Given the description of an element on the screen output the (x, y) to click on. 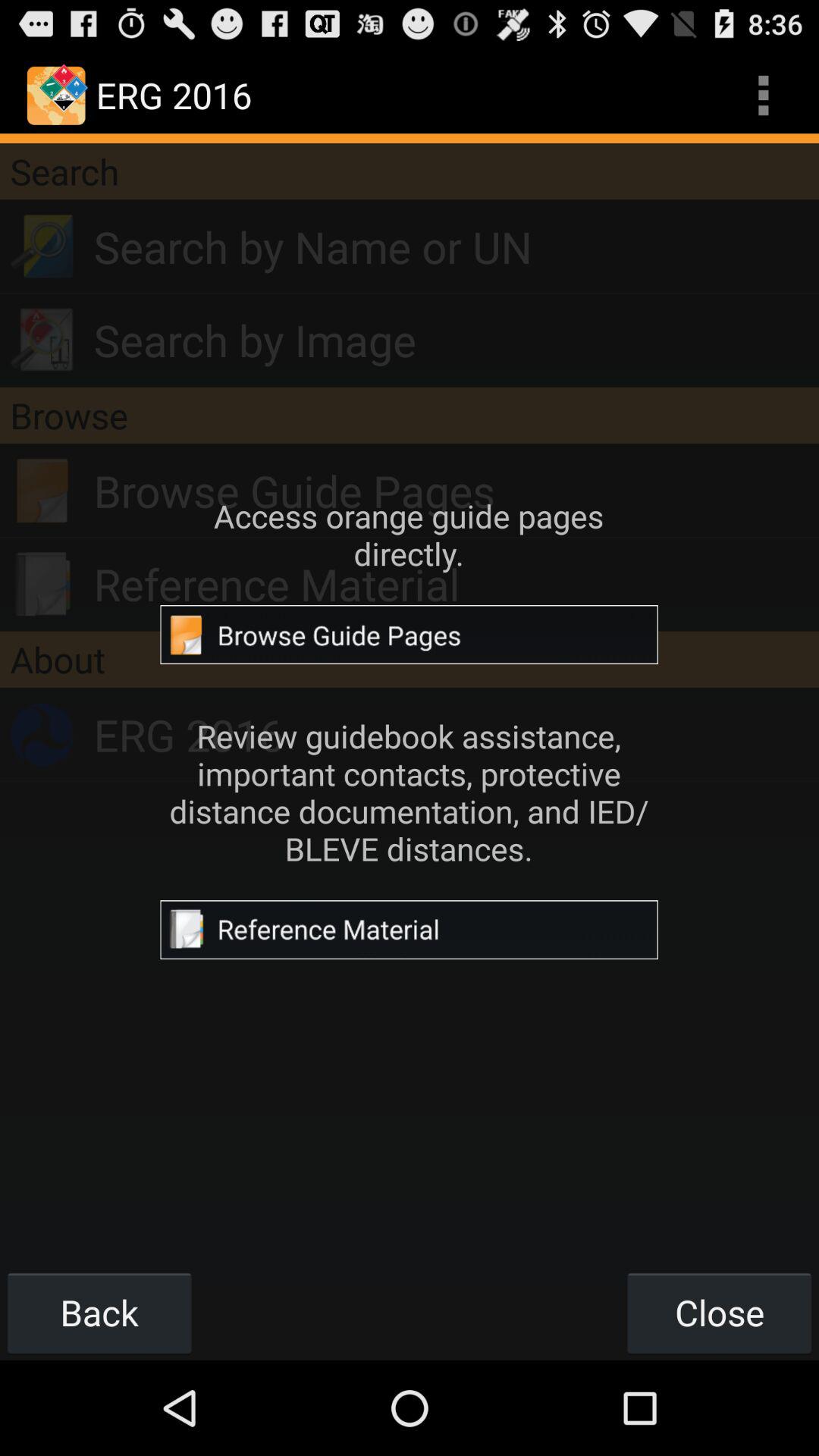
turn on icon at the bottom left corner (99, 1312)
